Given the description of an element on the screen output the (x, y) to click on. 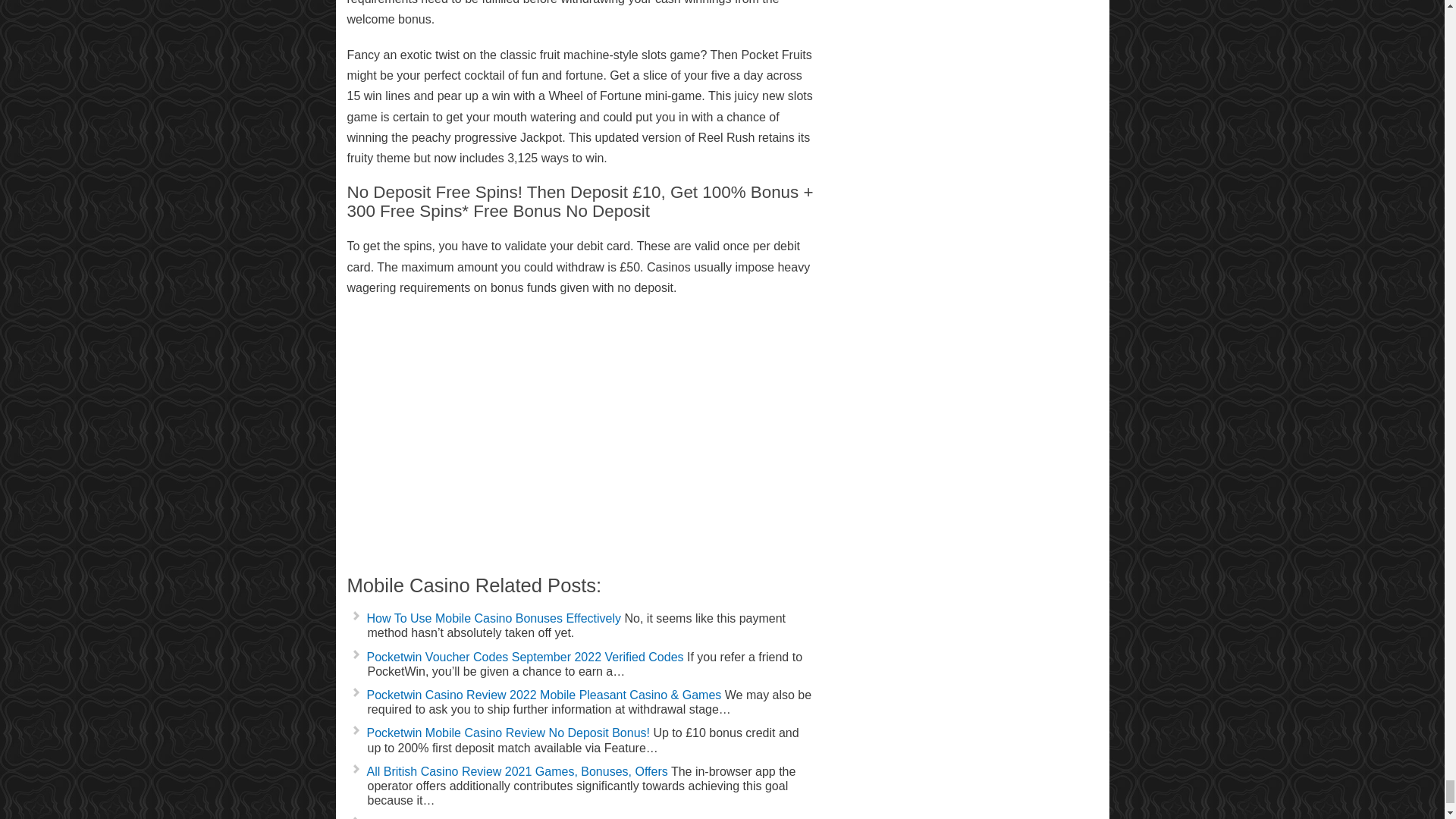
Pocketwin Mobile Casino Review No Deposit Bonus! (508, 732)
Pocketwin Voucher Codes September 2022 Verified Codes (525, 656)
How To Use Mobile Casino Bonuses Effectively (493, 617)
All British Casino Review 2021 Games, Bonuses, Offers (517, 771)
